Given the description of an element on the screen output the (x, y) to click on. 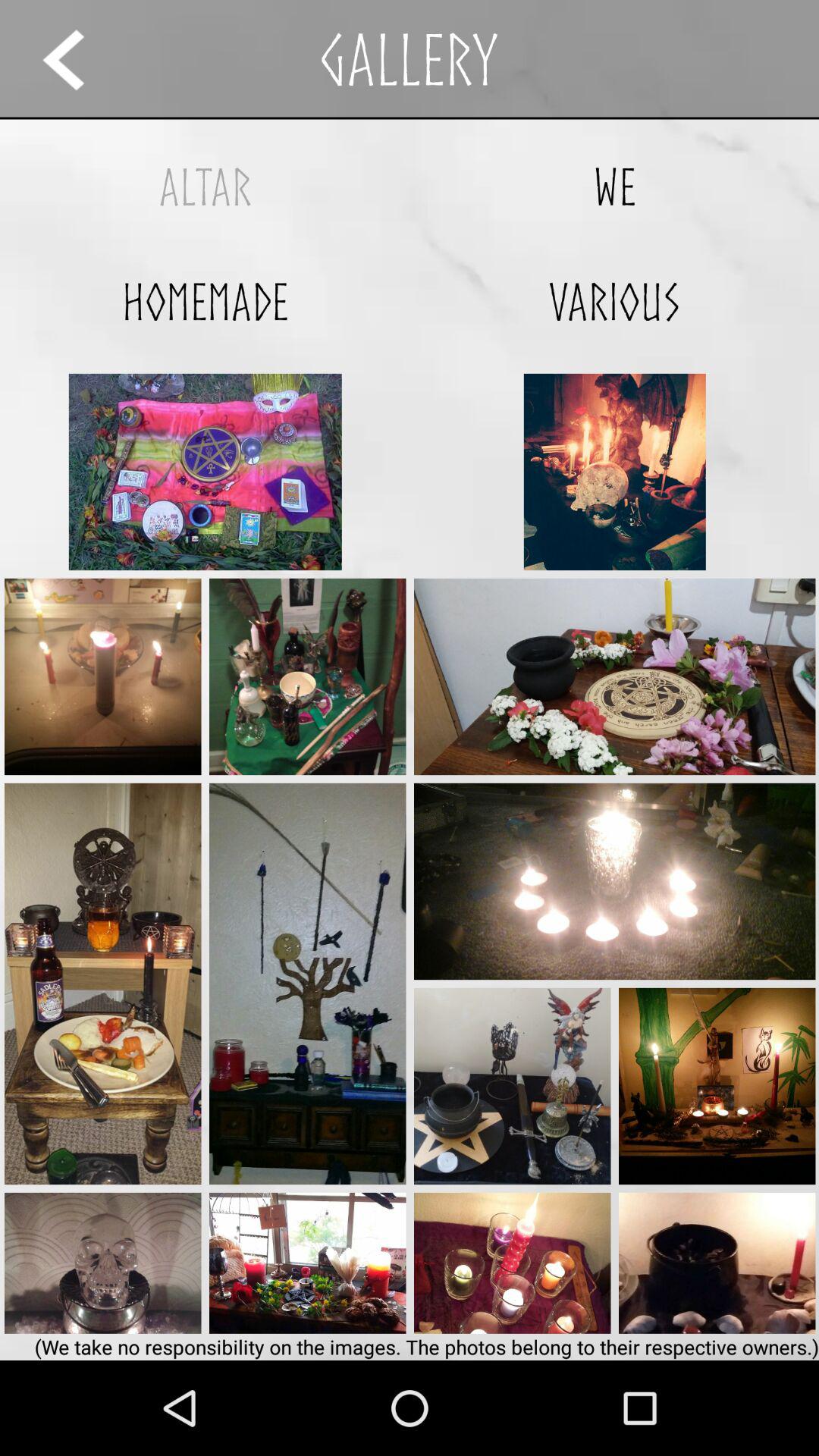
click the altar (204, 186)
